Given the description of an element on the screen output the (x, y) to click on. 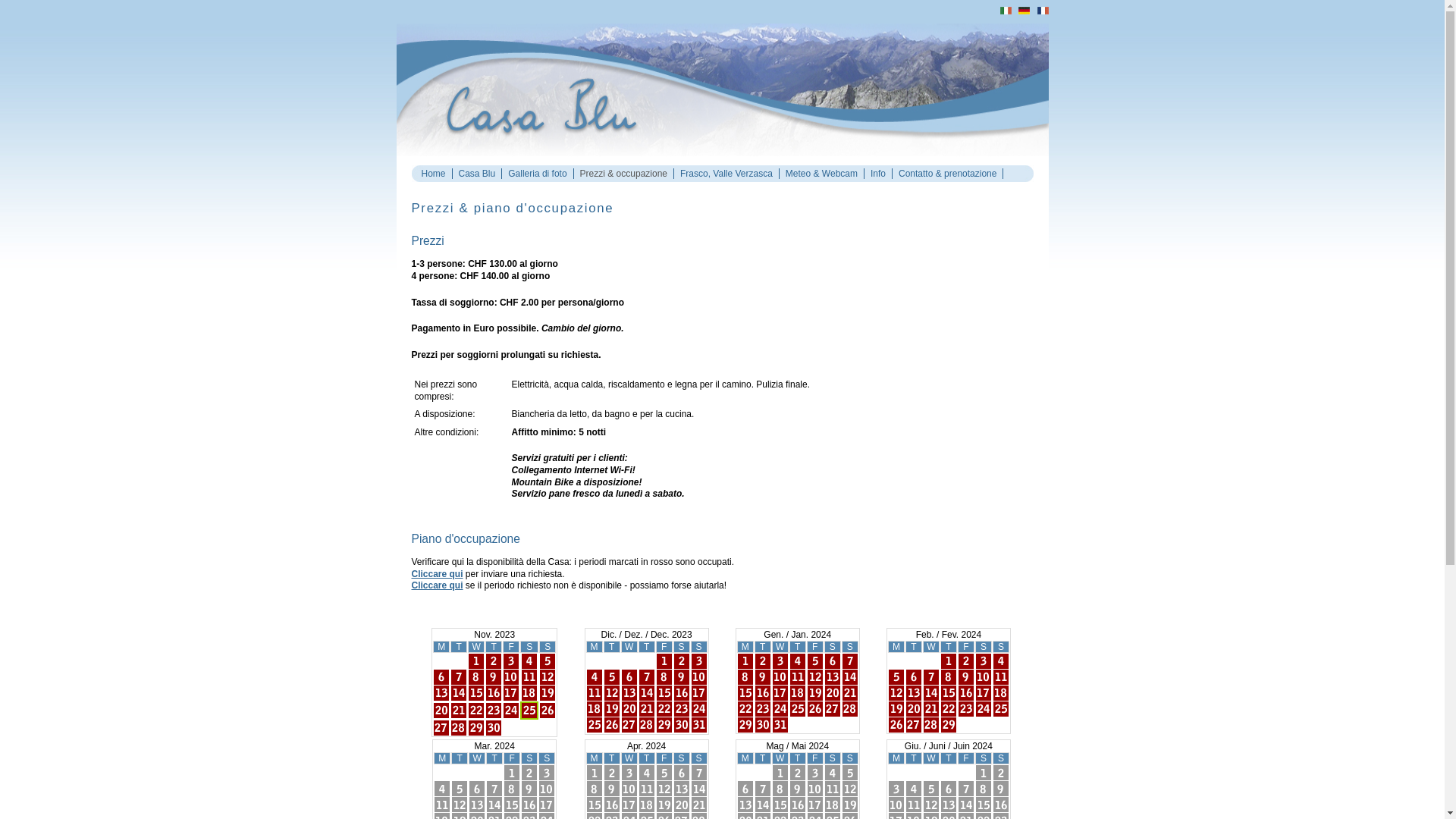
Galleria di foto Element type: text (537, 173)
Contatto & prenotazione Element type: text (947, 173)
Home Element type: text (433, 173)
Cliccare qui Element type: text (436, 585)
Meteo & Webcam Element type: text (821, 173)
Info Element type: text (877, 173)
Casa Blu Element type: text (477, 173)
Frasco, Valle Verzasca Element type: text (726, 173)
Cliccare qui Element type: text (436, 573)
Prezzi & occupazione Element type: text (623, 173)
